Given the description of an element on the screen output the (x, y) to click on. 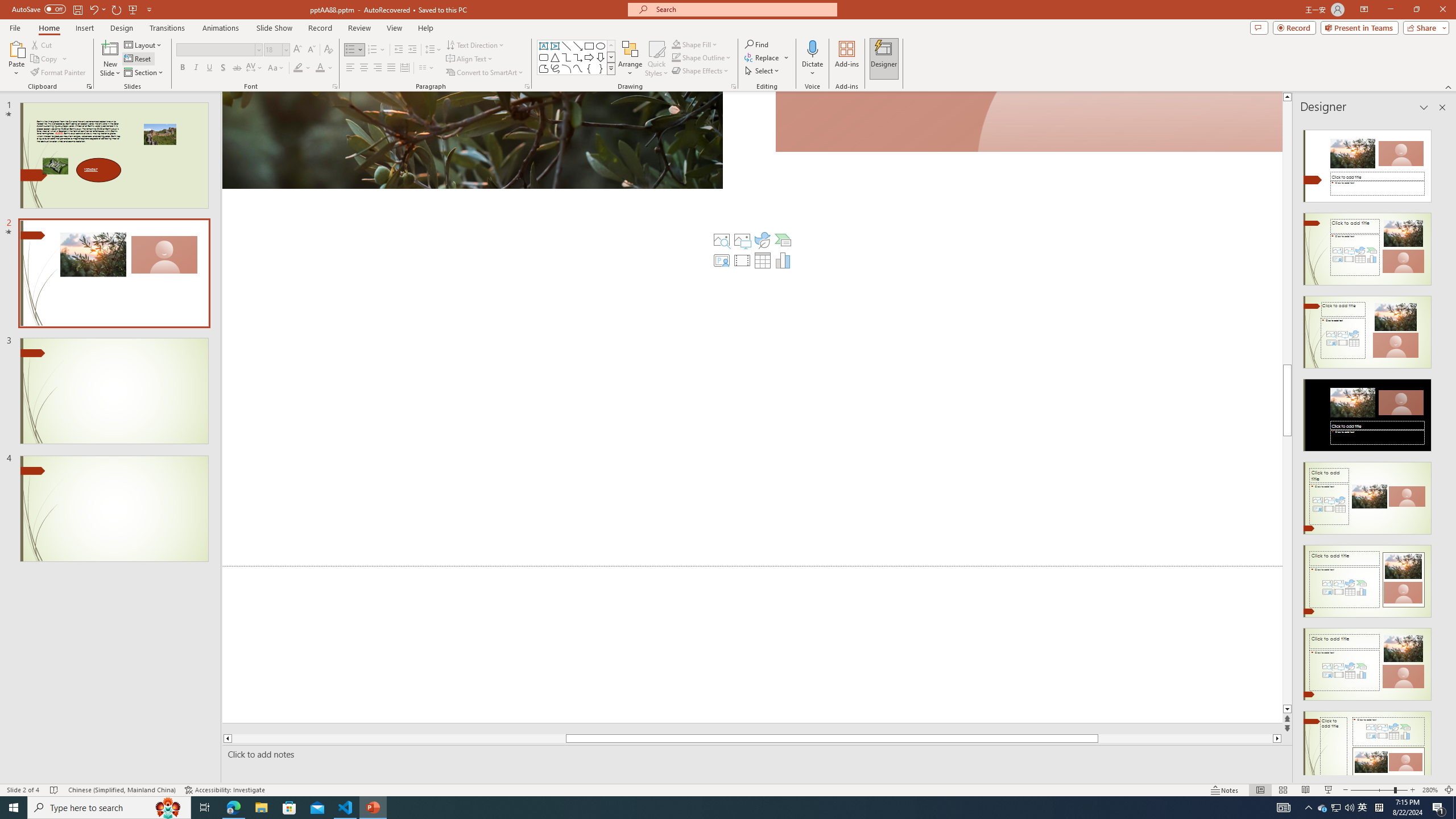
Zoom 280% (1430, 790)
